Given the description of an element on the screen output the (x, y) to click on. 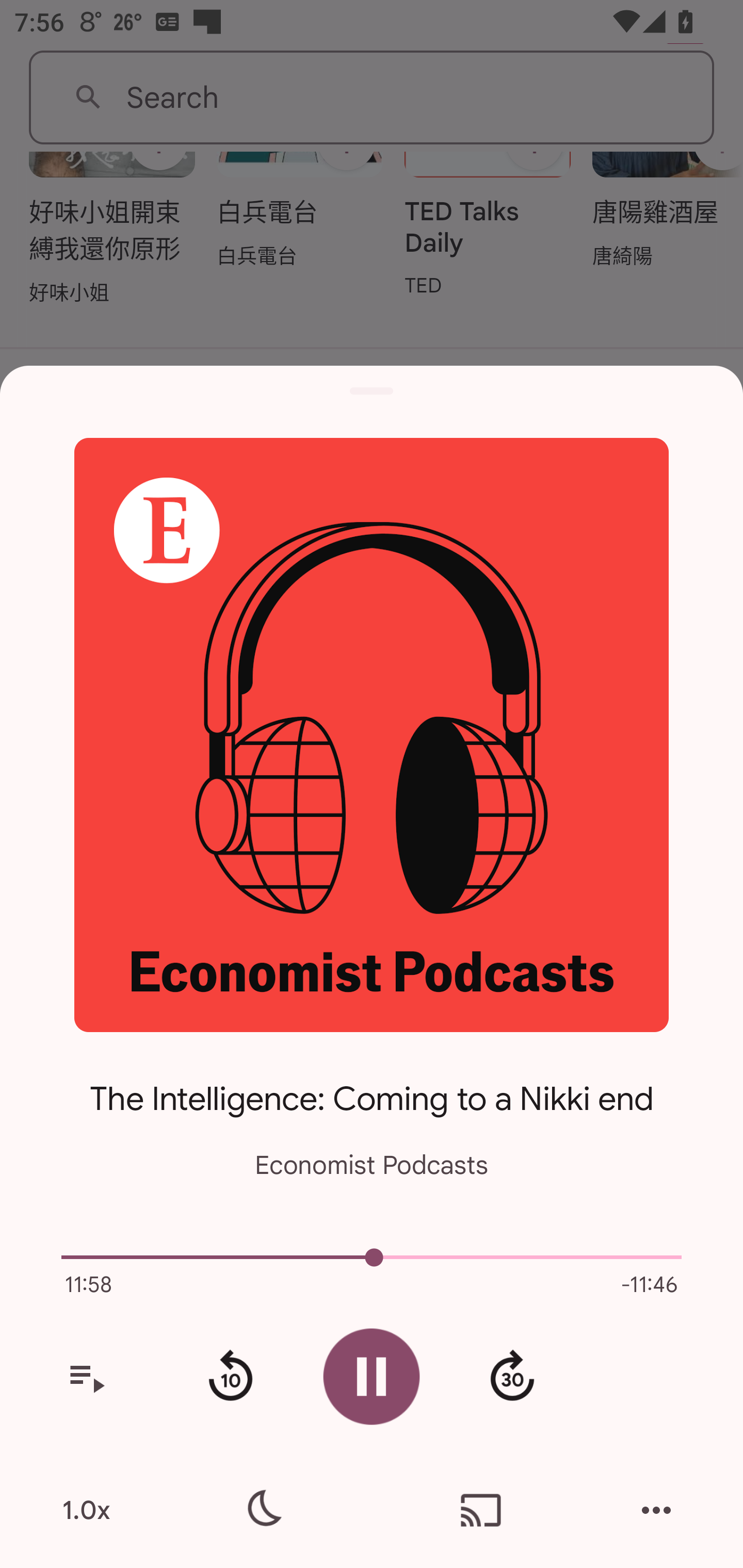
Open the show page for Economist Podcasts (371, 734)
5040.0 Current episode playback (371, 1257)
Pause (371, 1376)
View your queue (86, 1376)
Rewind 10 seconds (230, 1376)
Fast forward 30 second (511, 1376)
1.0x Playback speed is 1.0. (86, 1510)
Sleep timer settings (261, 1510)
Cast. Disconnected (480, 1510)
More actions (655, 1510)
